Given the description of an element on the screen output the (x, y) to click on. 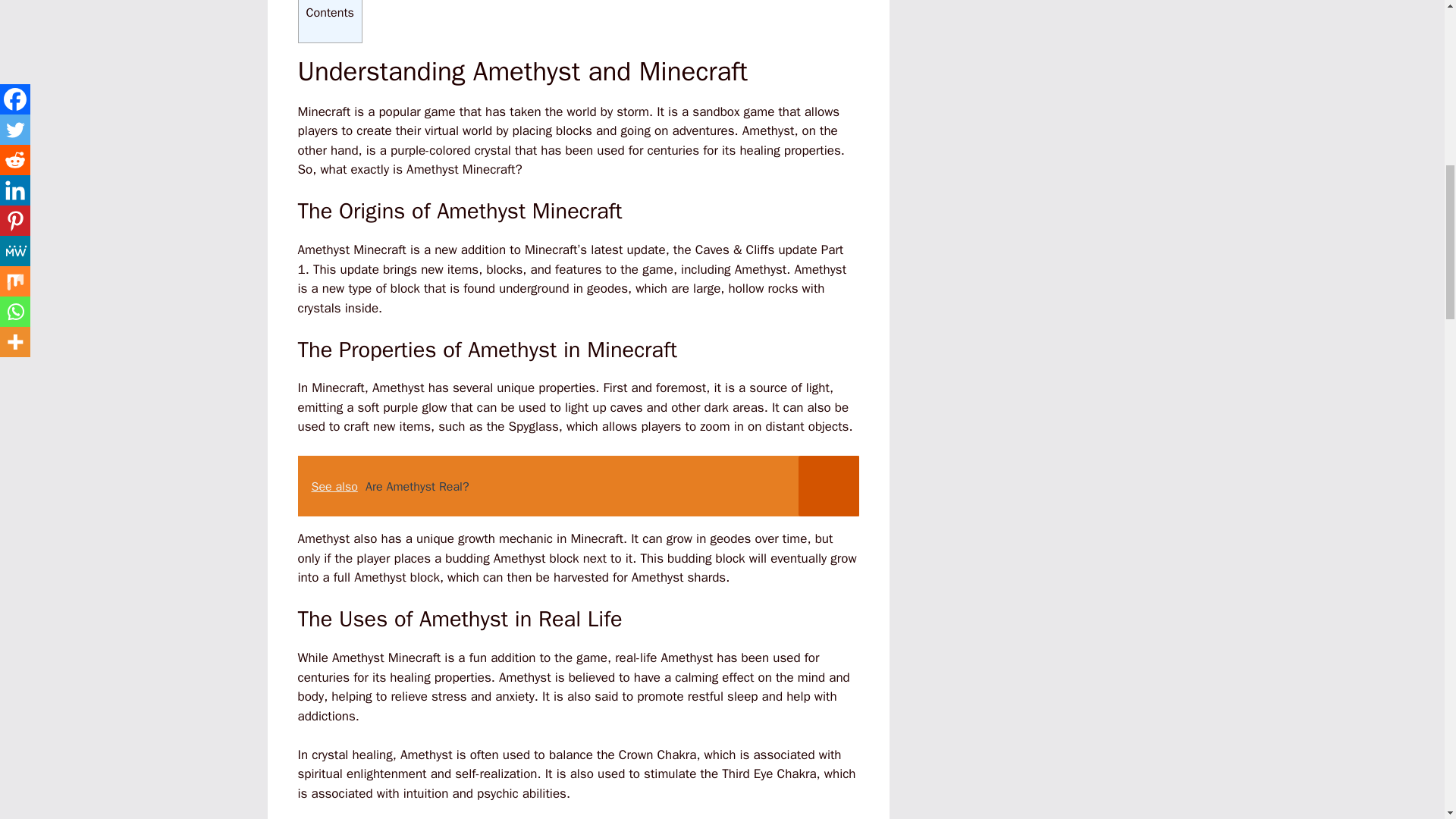
See also  Are Amethyst Real? (578, 485)
